Given the description of an element on the screen output the (x, y) to click on. 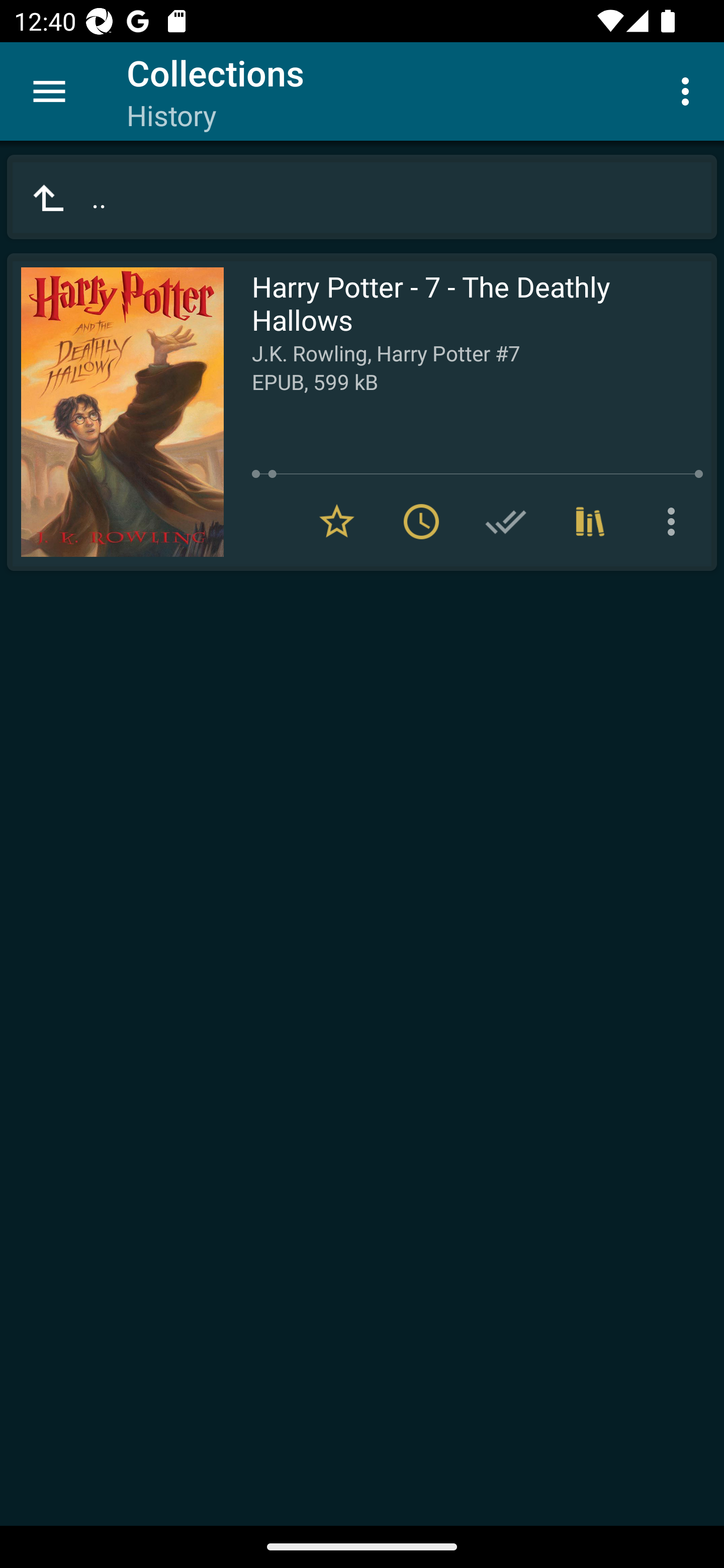
Menu (49, 91)
More options (688, 90)
.. (361, 197)
Read Harry Potter - 7 - The Deathly Hallows (115, 412)
Remove from Favorites (336, 521)
Remove from To read (421, 521)
Add to Have read (505, 521)
Collections (3) (590, 521)
More options (674, 521)
